Given the description of an element on the screen output the (x, y) to click on. 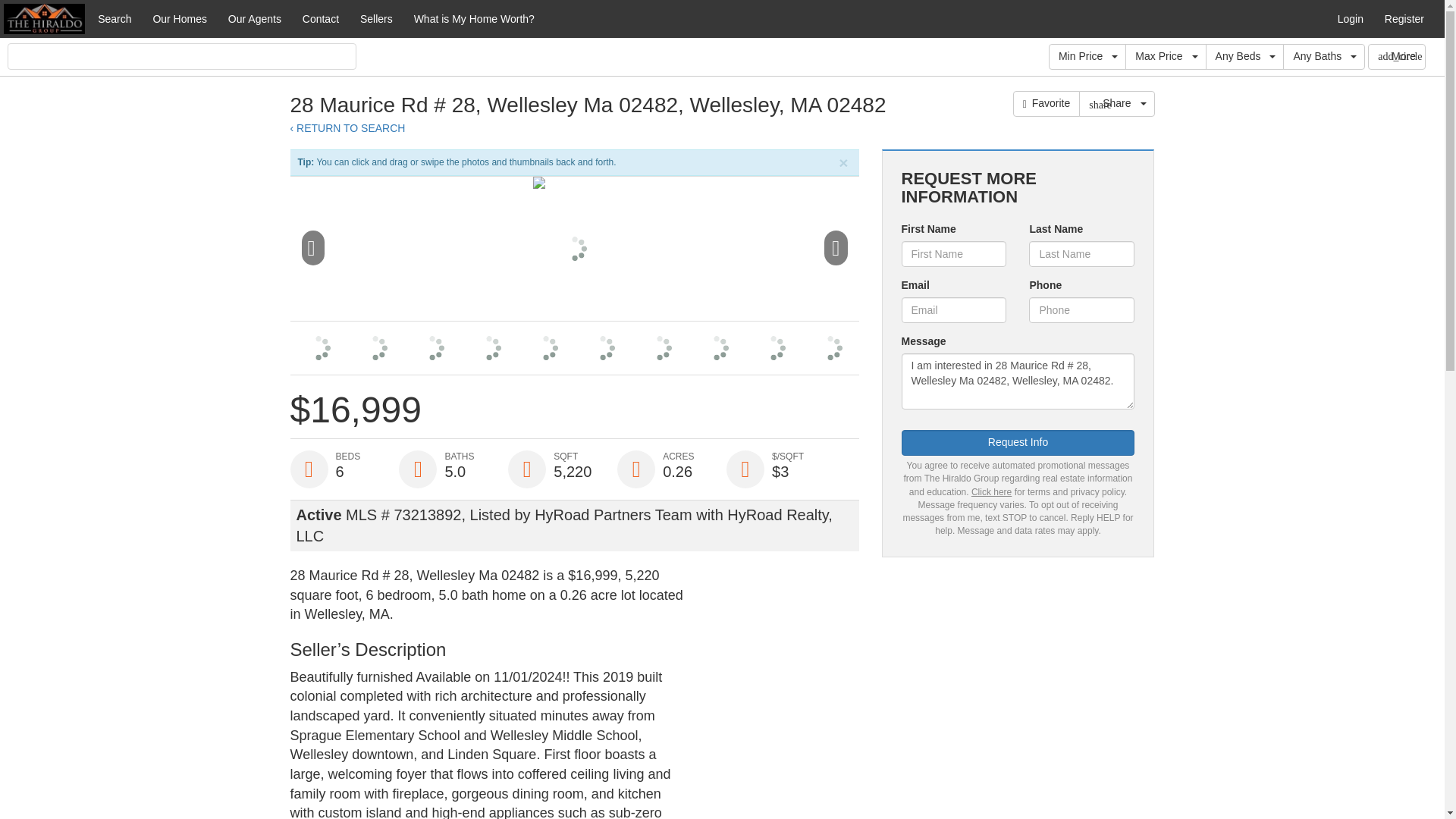
Search (113, 18)
Contact (320, 18)
Sellers (375, 18)
Min Price (1086, 56)
Our Homes (178, 18)
What is My Home Worth? (473, 18)
Our Agents (254, 18)
Register (1403, 18)
Login (1350, 18)
